Given the description of an element on the screen output the (x, y) to click on. 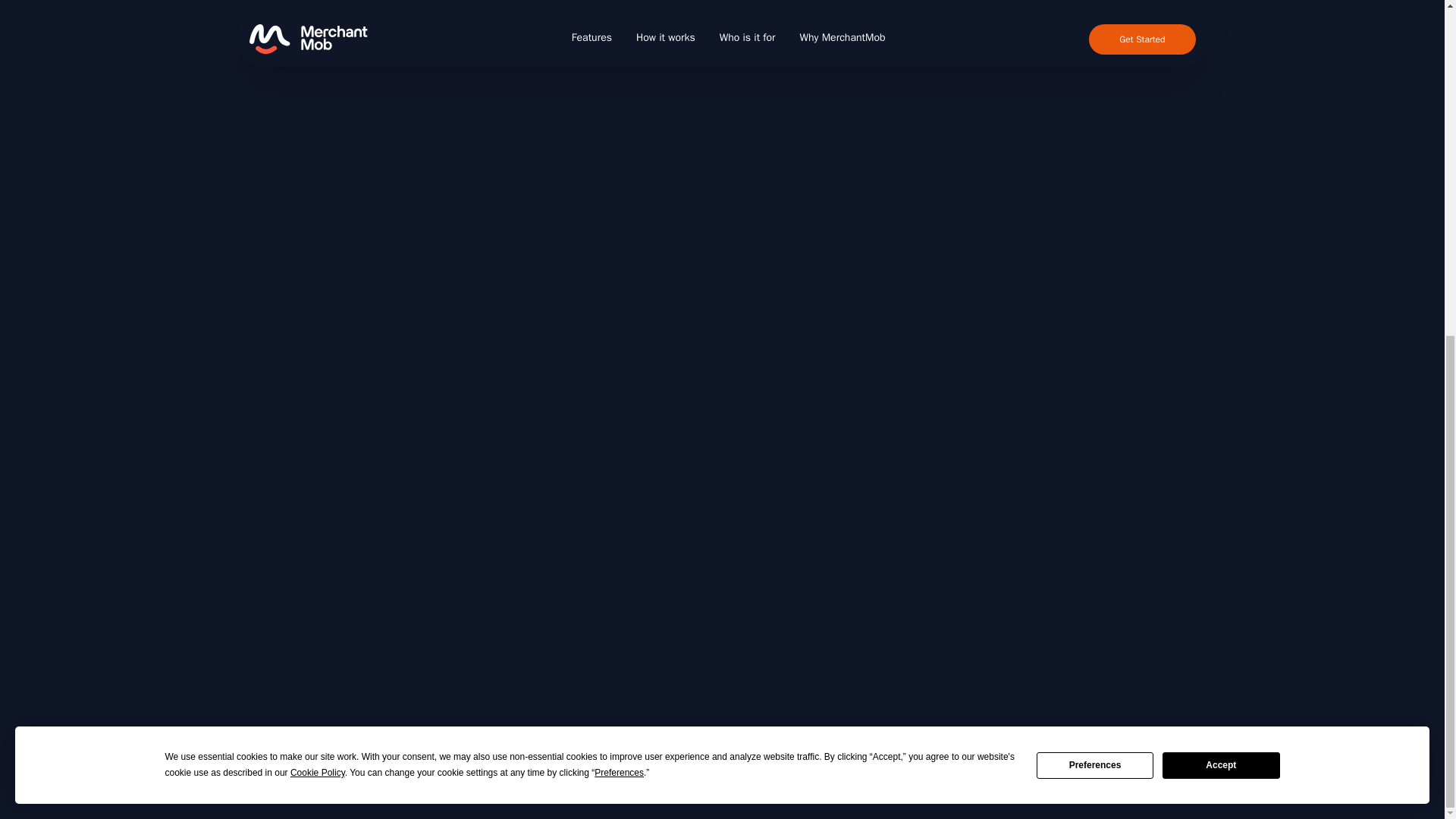
Preferences (1094, 201)
Accept (1220, 201)
Terms of Service (1144, 746)
Pricing (988, 746)
Privacy Policy (1052, 746)
